Given the description of an element on the screen output the (x, y) to click on. 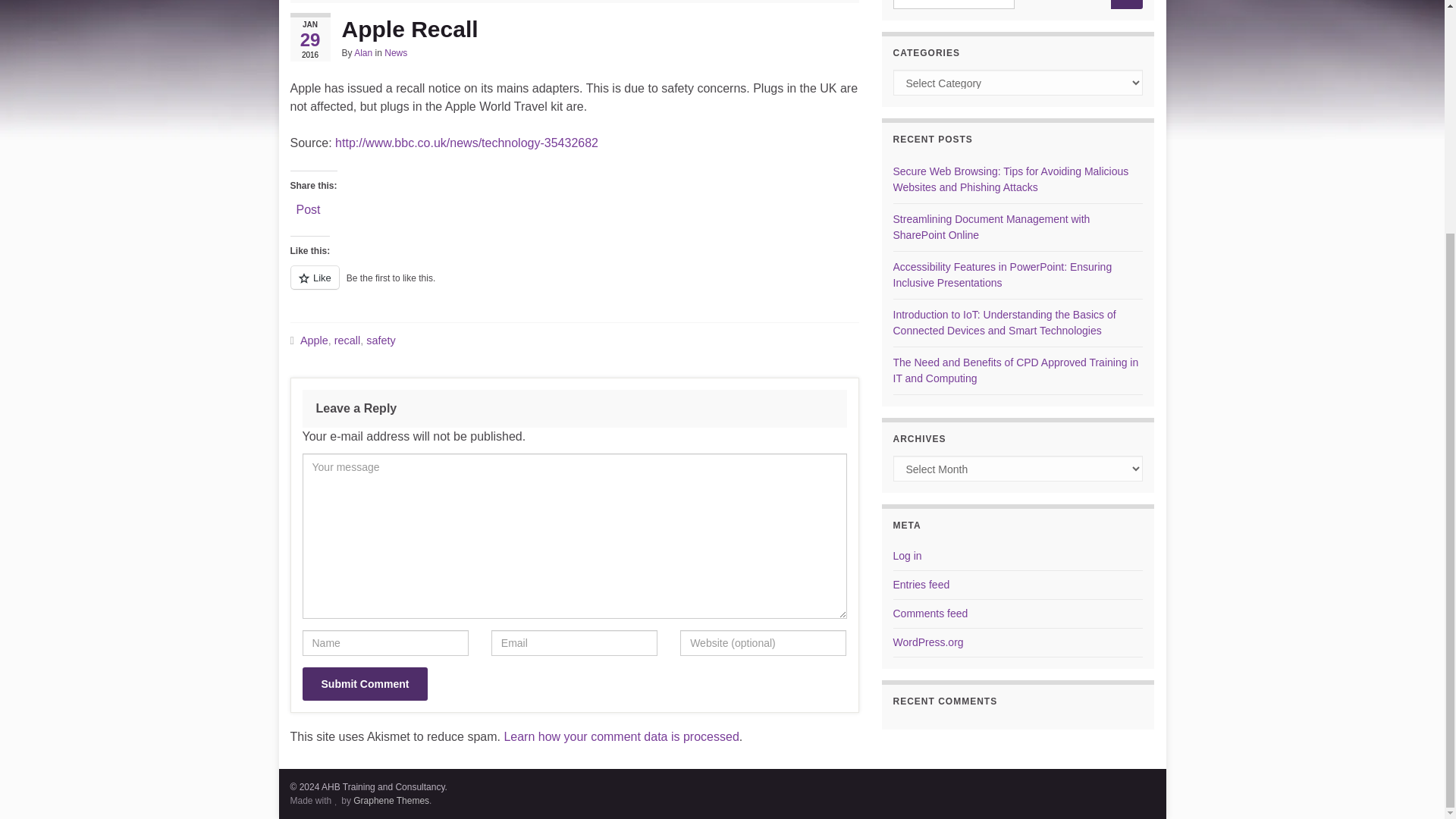
Streamlining Document Management with SharePoint Online (991, 226)
WordPress.org (928, 642)
Comments feed (930, 613)
Submit Comment (364, 684)
Like or Reblog (574, 286)
Log in (907, 555)
Entries feed (921, 584)
